Given the description of an element on the screen output the (x, y) to click on. 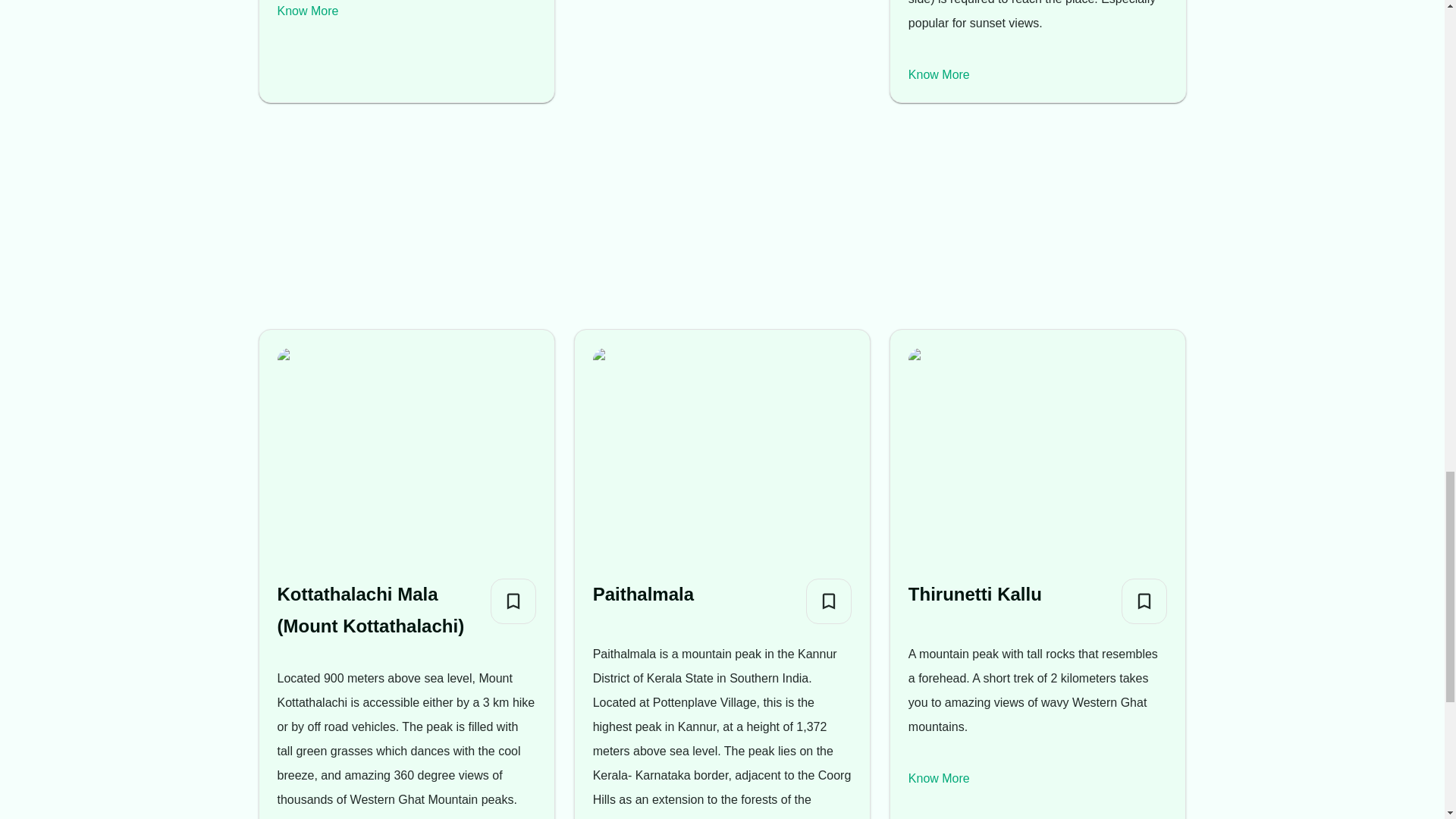
Know More (938, 74)
Add to Bucket List (512, 601)
Add to Bucket List (828, 601)
Know More (938, 778)
Add to Bucket List (1144, 601)
Thirunetti Kallu (975, 594)
Know More (308, 10)
Paithalmala (643, 594)
